Given the description of an element on the screen output the (x, y) to click on. 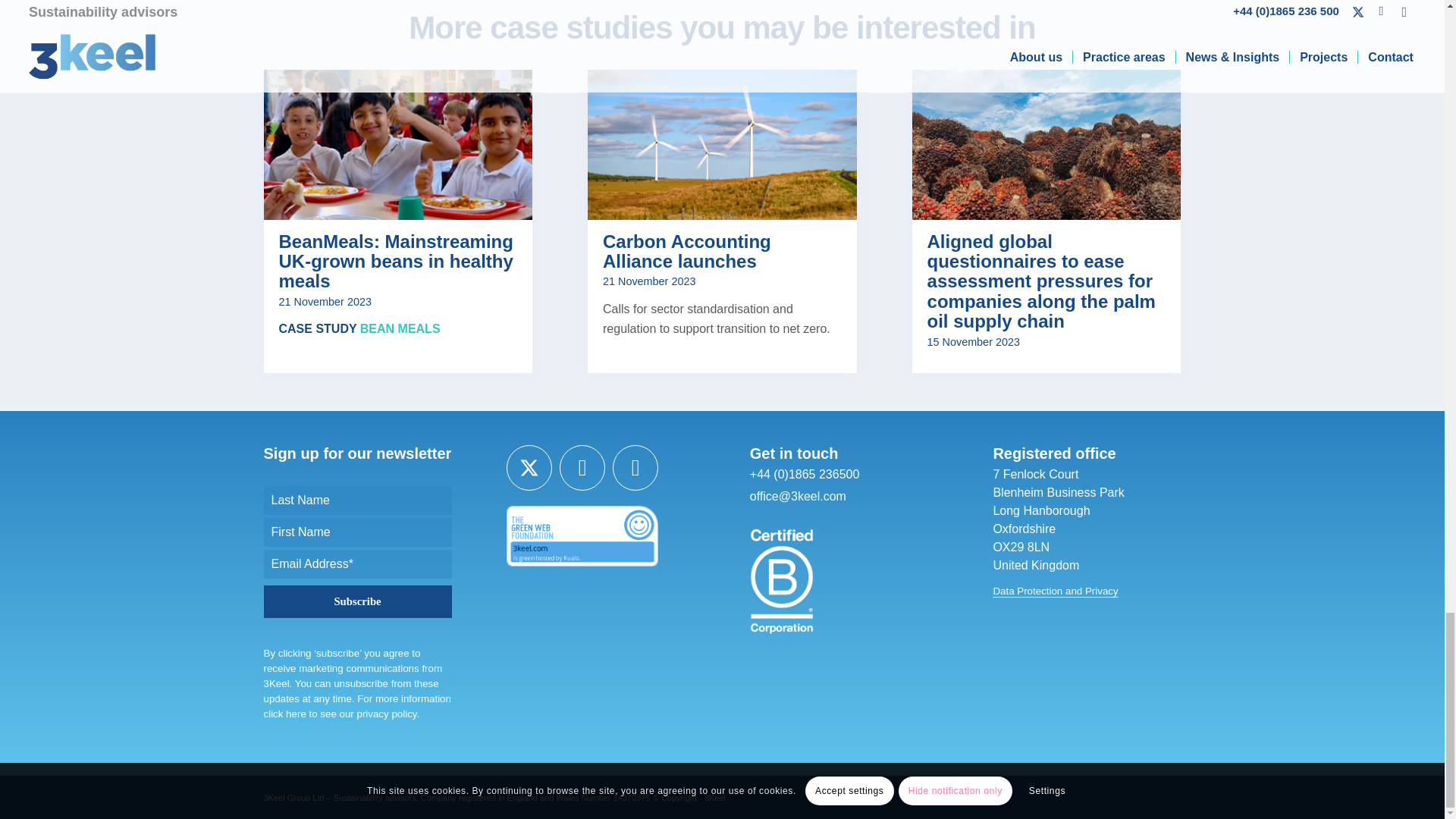
Carbon Accounting Alliance launches (722, 144)
BeanMeals: Mainstreaming UK-grown beans in healthy meals (397, 144)
Subscribe (357, 601)
BeanMeals: Mainstreaming UK-grown beans in healthy meals (396, 260)
